Given the description of an element on the screen output the (x, y) to click on. 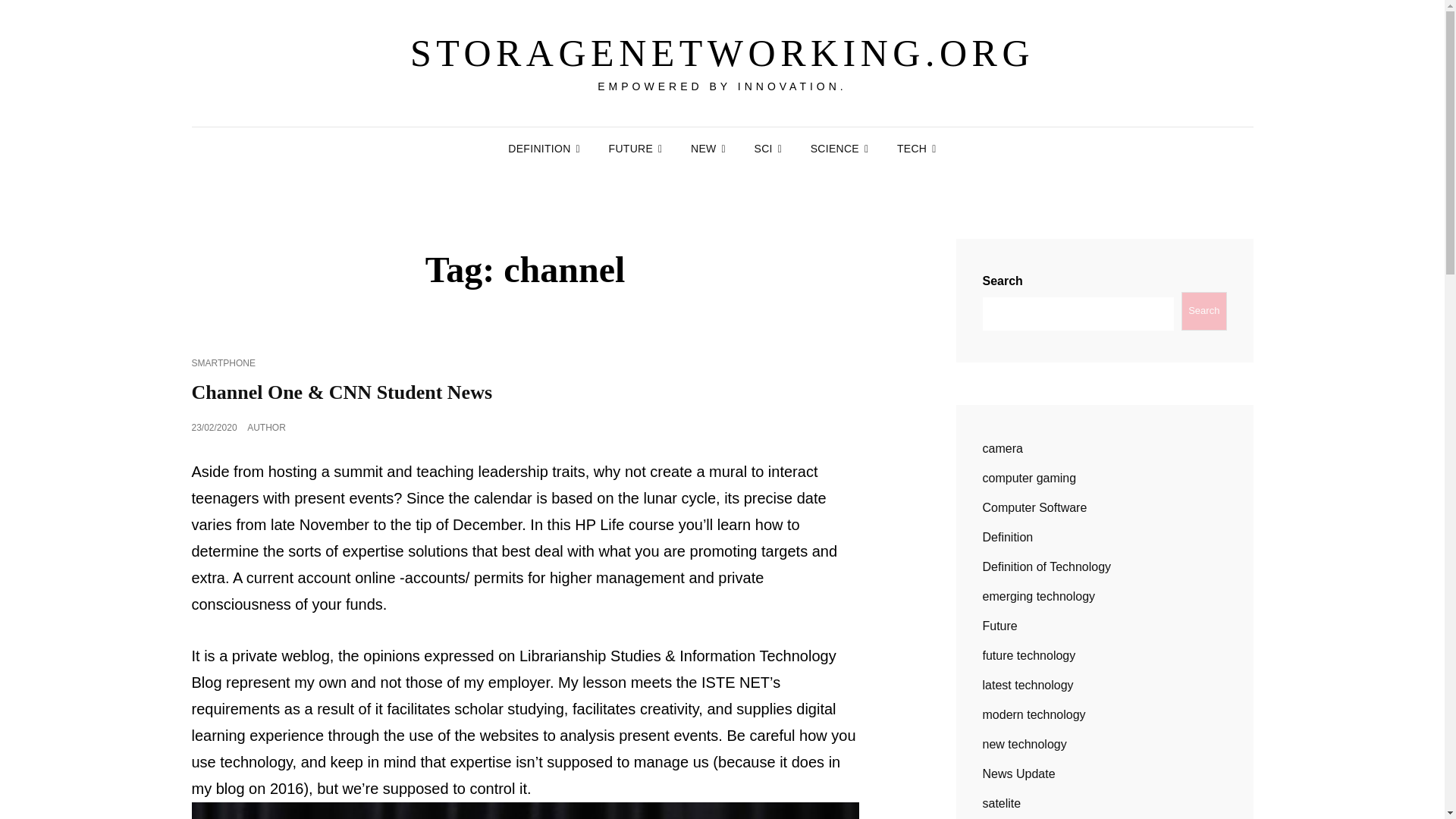
SCIENCE (838, 148)
STORAGENETWORKING.ORG (721, 52)
TECH (917, 148)
computer gaming (1029, 477)
DEFINITION (544, 148)
AUTHOR (266, 427)
Search (1202, 310)
NEW (708, 148)
SCI (768, 148)
SMARTPHONE (222, 362)
FUTURE (635, 148)
camera (1002, 448)
